Given the description of an element on the screen output the (x, y) to click on. 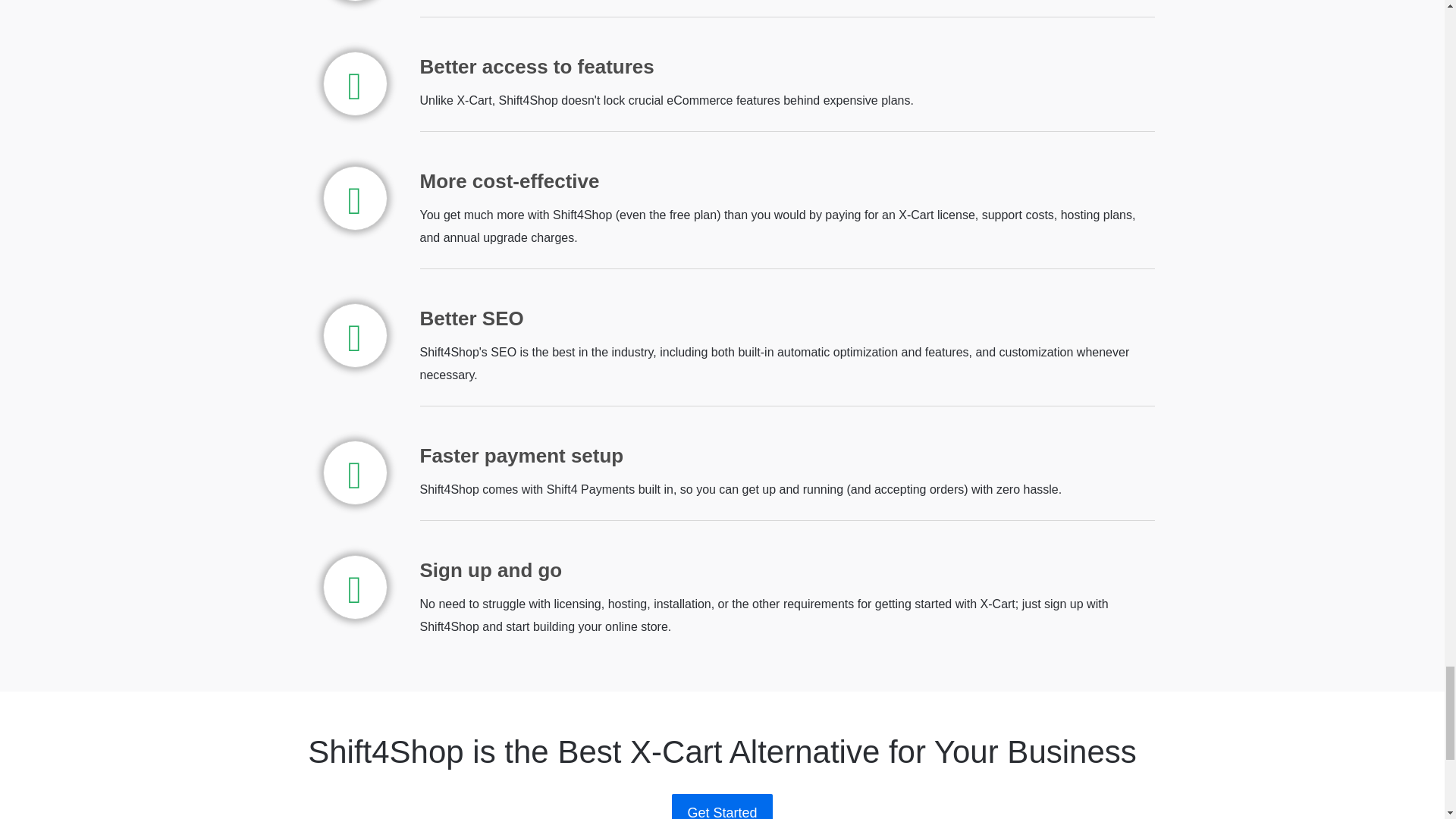
Get Started (721, 806)
